Given the description of an element on the screen output the (x, y) to click on. 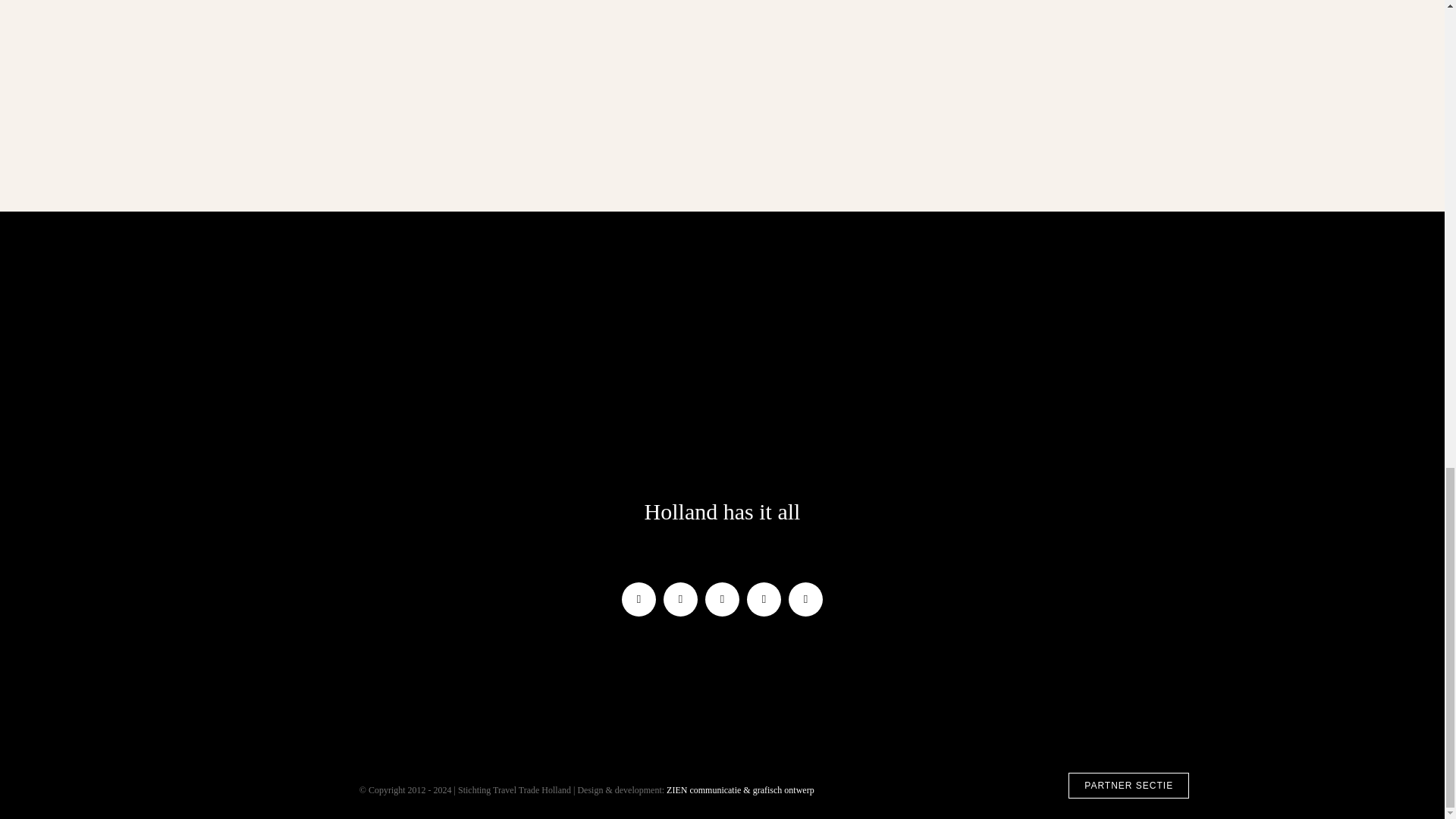
TTH-logo-wit (721, 407)
Twitter (680, 599)
YouTube (763, 599)
Instagram (721, 599)
Facebook (638, 599)
LinkedIn (805, 599)
PARTNER SECTIE (1128, 785)
